Given the description of an element on the screen output the (x, y) to click on. 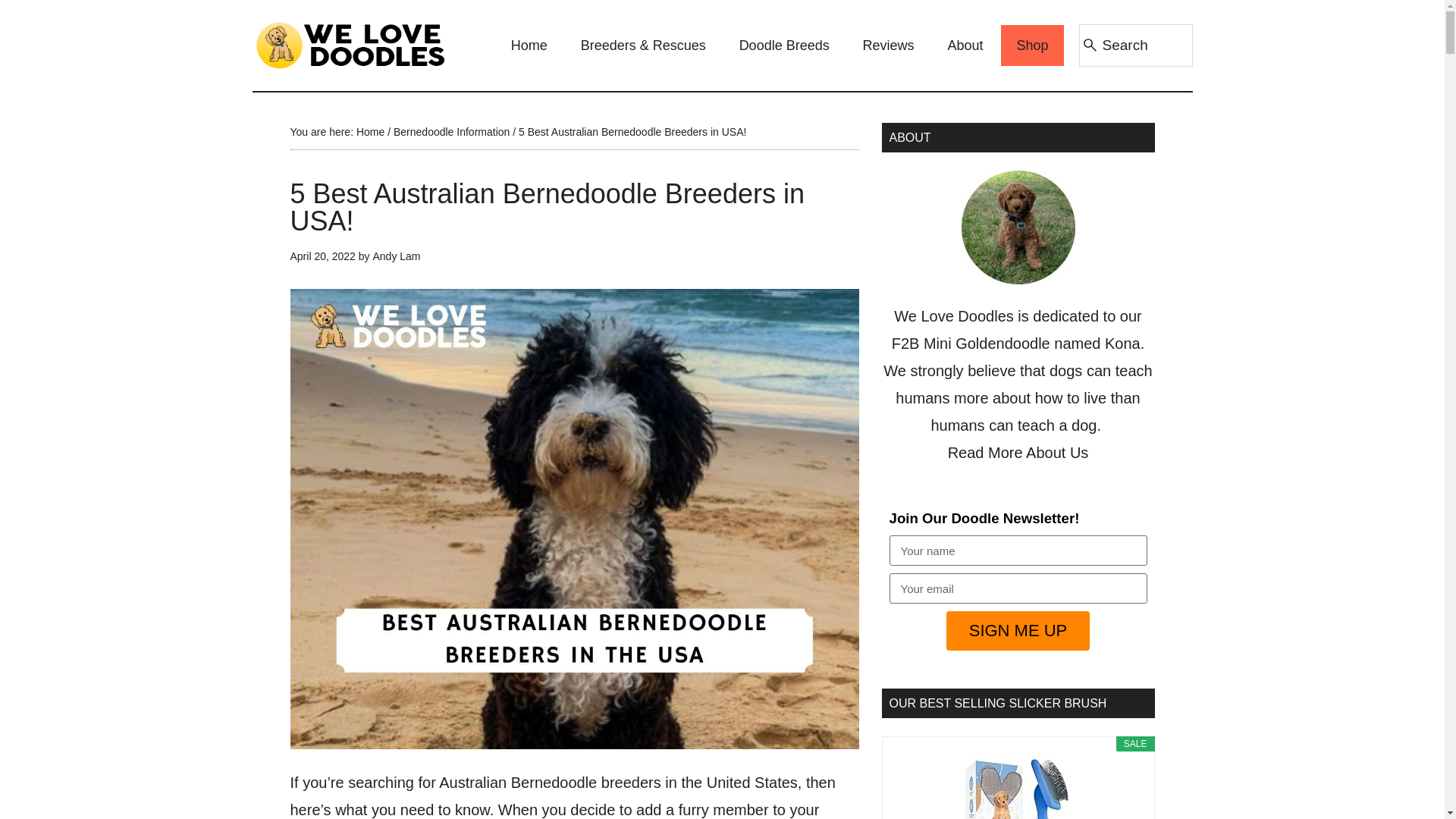
We Love Doodles (349, 45)
Shop (1031, 45)
We Love Doodles Slicker Brush (1017, 787)
About (965, 45)
Andy Lam (396, 256)
Bernedoodle Information (451, 132)
Home (370, 132)
Doodle Breeds (783, 45)
